Given the description of an element on the screen output the (x, y) to click on. 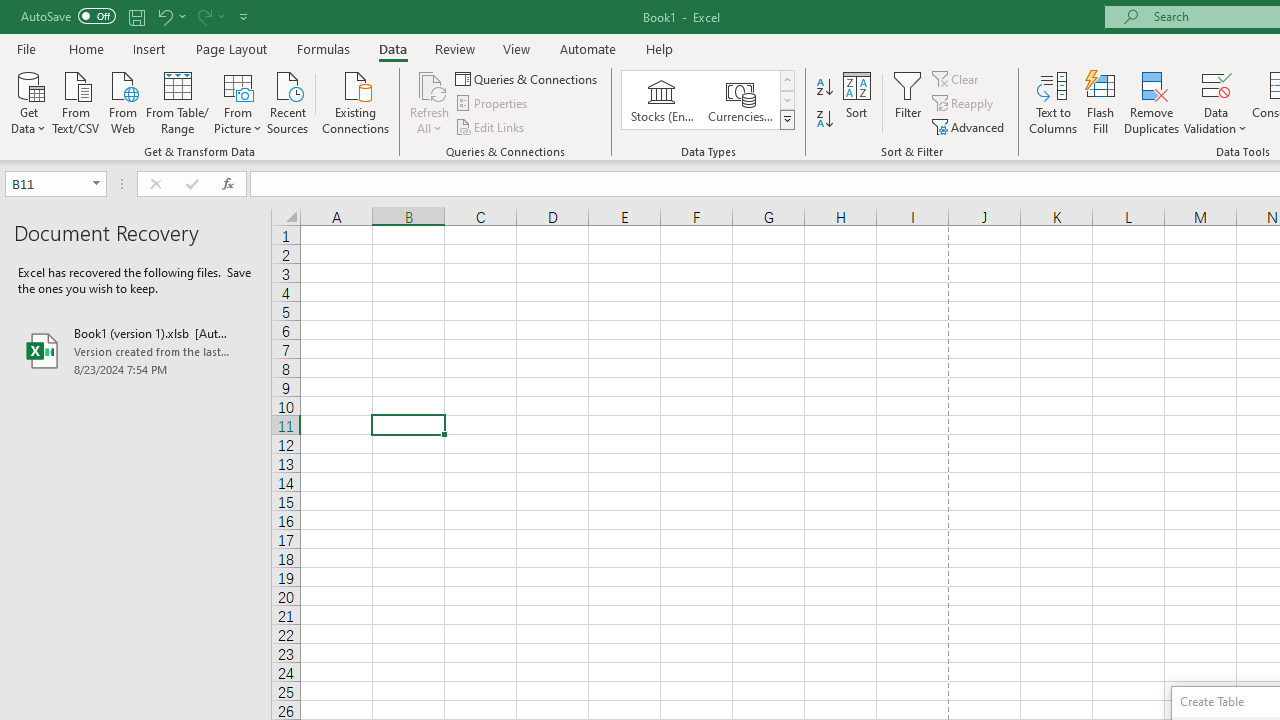
Remove Duplicates (1151, 102)
Sort Z to A (824, 119)
From Picture (238, 101)
Edit Links (491, 126)
Existing Connections (355, 101)
Clear (957, 78)
From Text/CSV (75, 101)
